Given the description of an element on the screen output the (x, y) to click on. 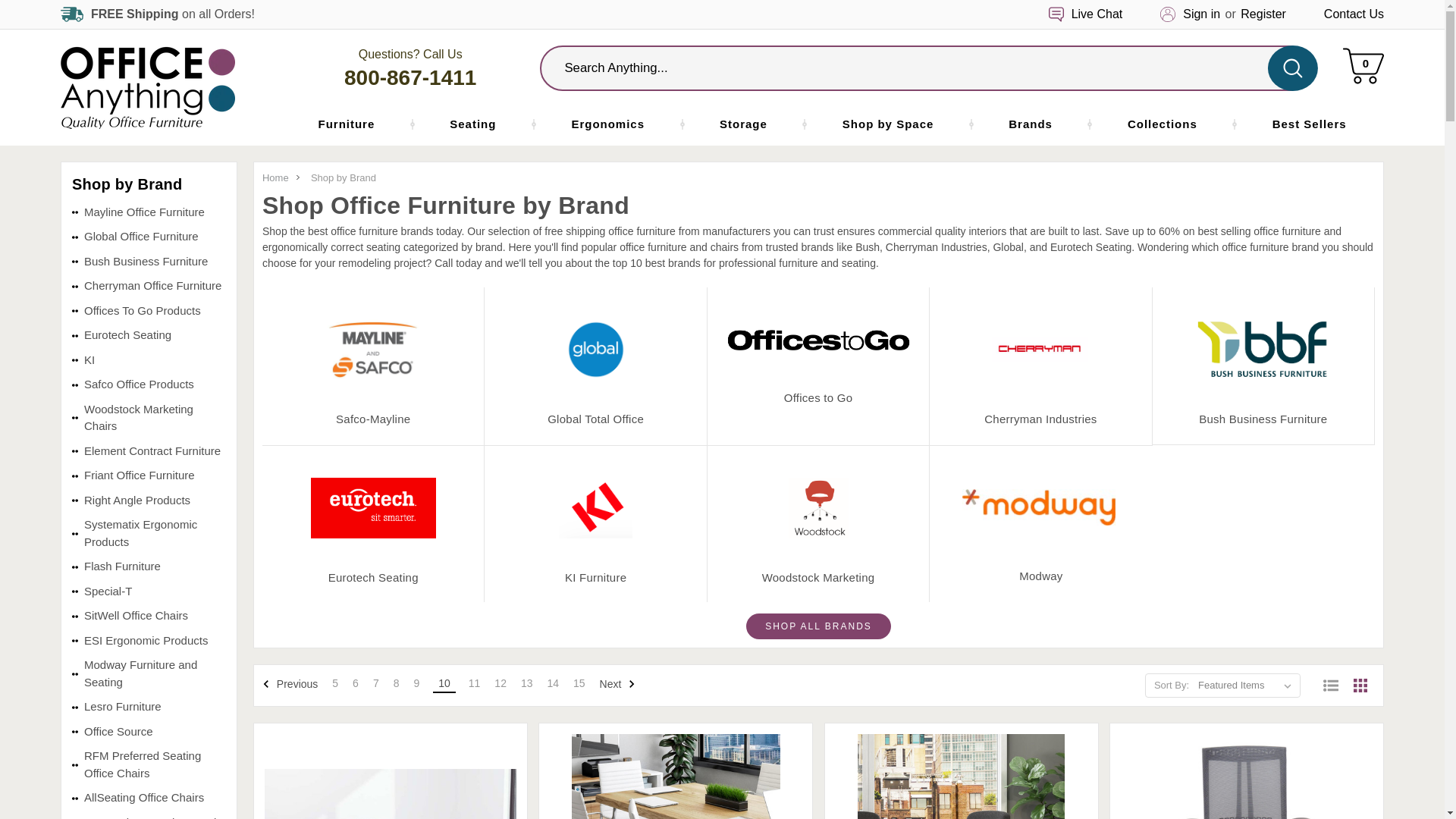
Live Chat (1096, 14)
Sign in (1363, 65)
Office Anything (1201, 14)
Furniture (147, 86)
Contact Us (346, 123)
Register (1353, 14)
800-867-1411 (1262, 14)
